Given the description of an element on the screen output the (x, y) to click on. 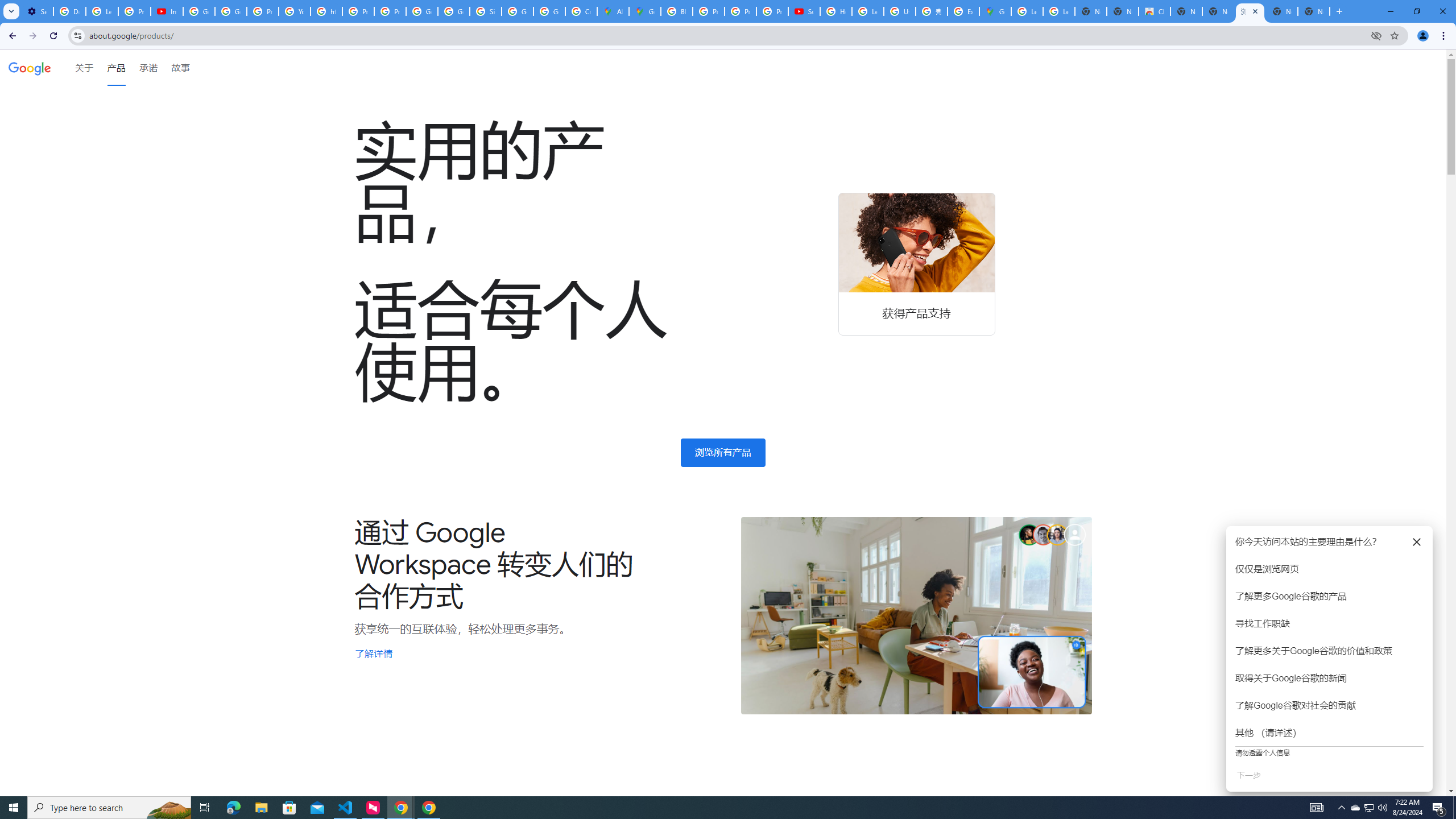
Blogger Policies and Guidelines - Transparency Center (676, 11)
Create your Google Account (581, 11)
Explore new street-level details - Google Maps Help (963, 11)
